Given the description of an element on the screen output the (x, y) to click on. 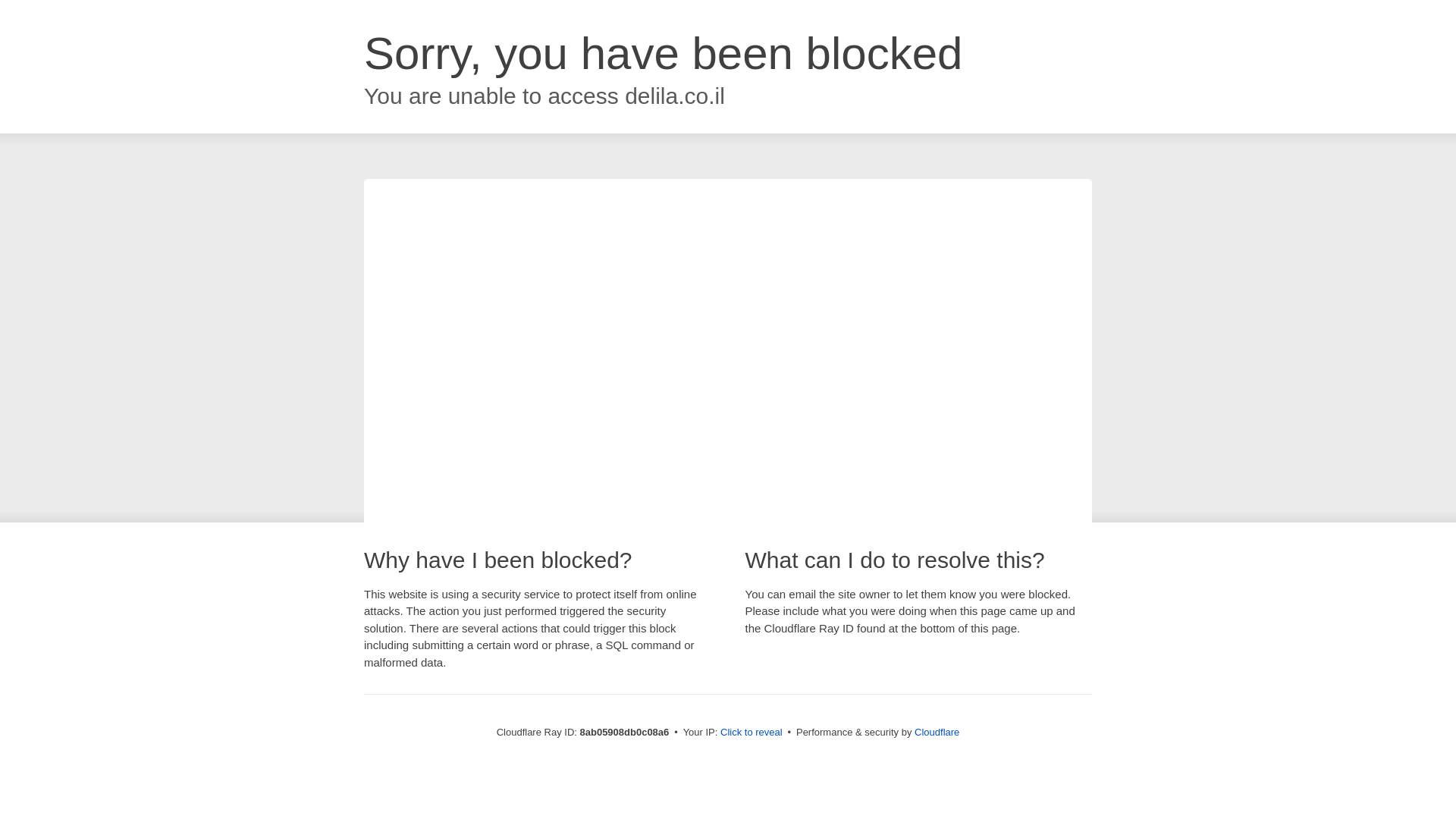
Cloudflare (936, 731)
Click to reveal (751, 732)
